Given the description of an element on the screen output the (x, y) to click on. 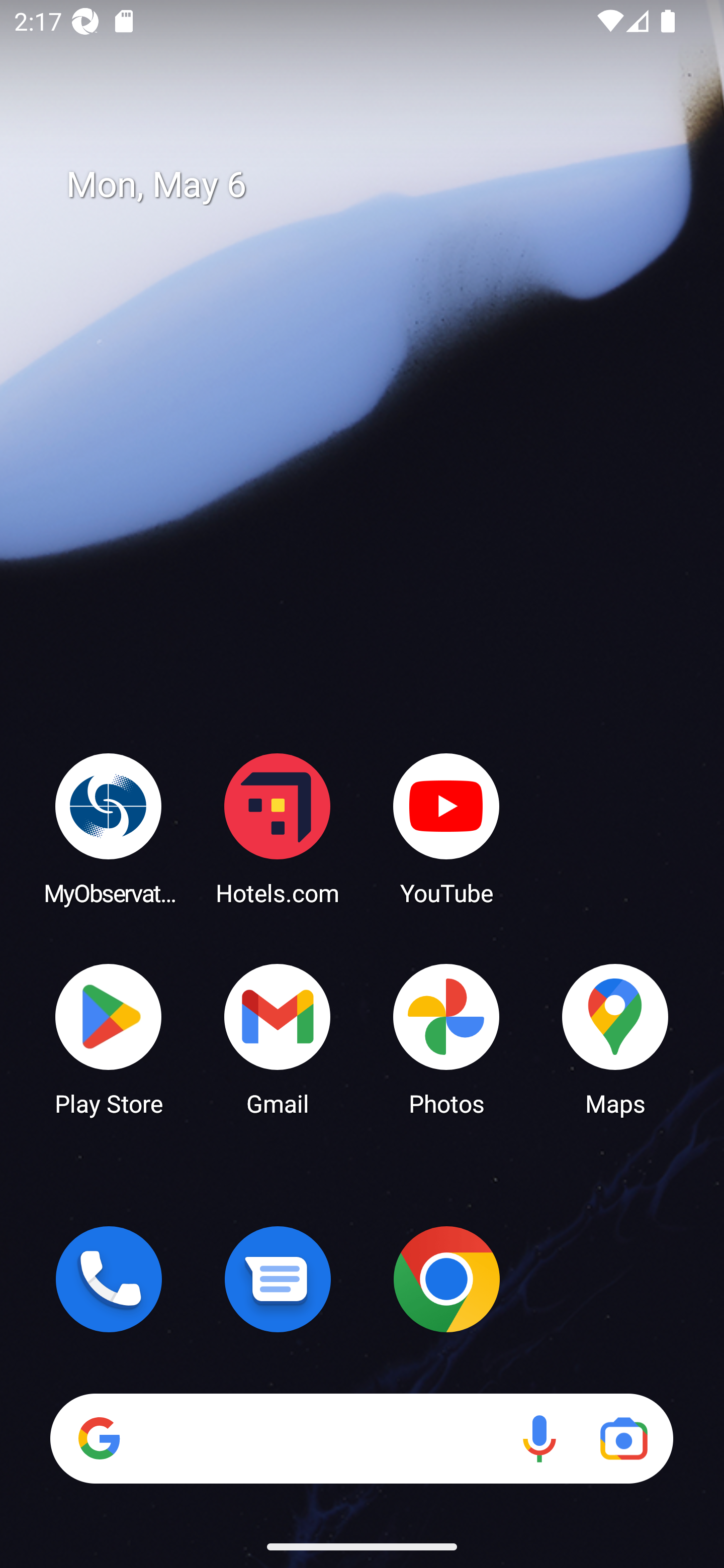
Mon, May 6 (375, 184)
MyObservatory (108, 828)
Hotels.com (277, 828)
YouTube (445, 828)
Play Store (108, 1038)
Gmail (277, 1038)
Photos (445, 1038)
Maps (615, 1038)
Phone (108, 1279)
Messages (277, 1279)
Chrome (446, 1279)
Search Voice search Google Lens (361, 1438)
Voice search (539, 1438)
Google Lens (623, 1438)
